Given the description of an element on the screen output the (x, y) to click on. 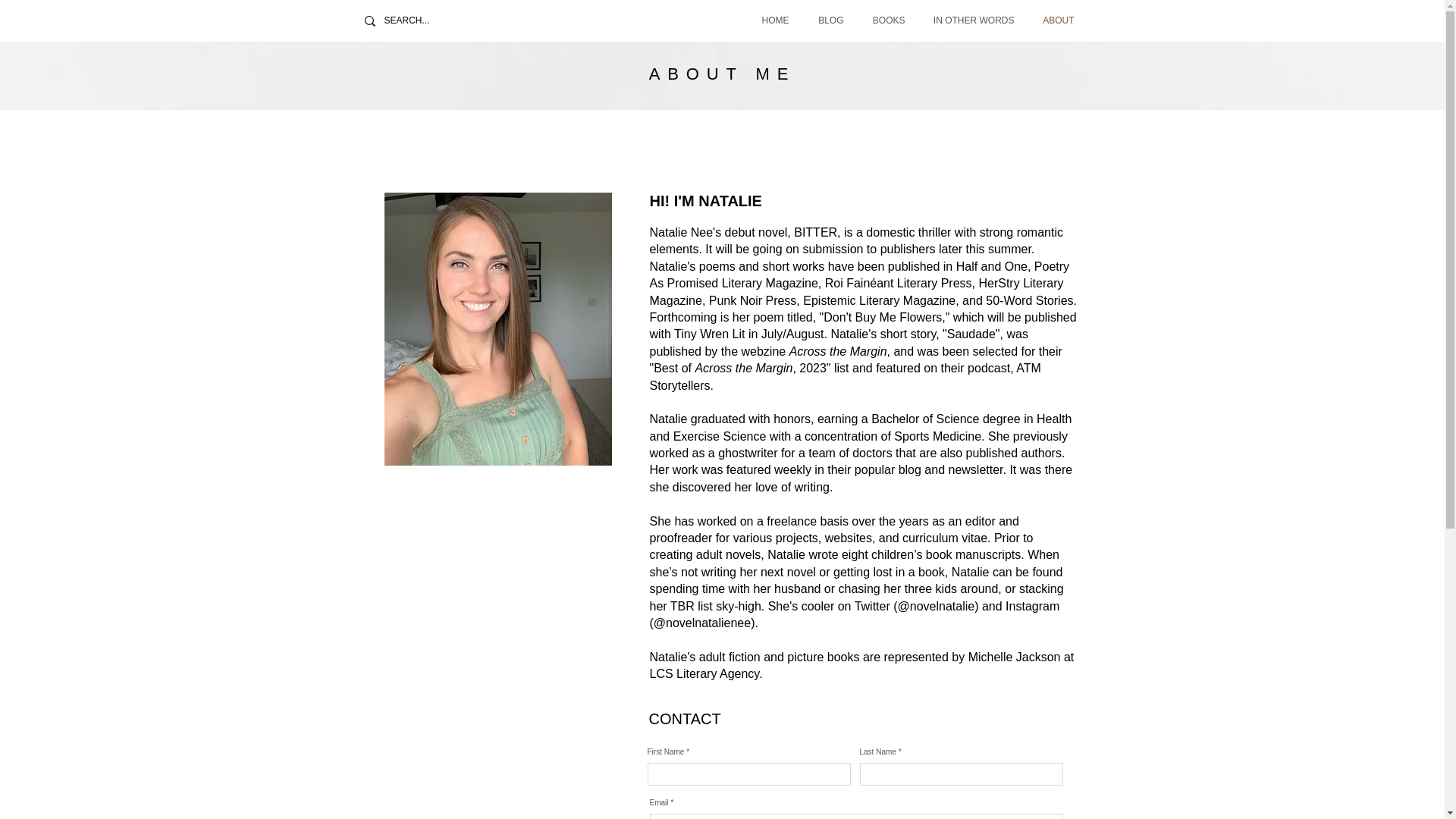
IN OTHER WORDS (967, 20)
HOME (767, 20)
BLOG (823, 20)
ABOUT (1051, 20)
ABOUT ME (722, 73)
BOOKS (881, 20)
